Given the description of an element on the screen output the (x, y) to click on. 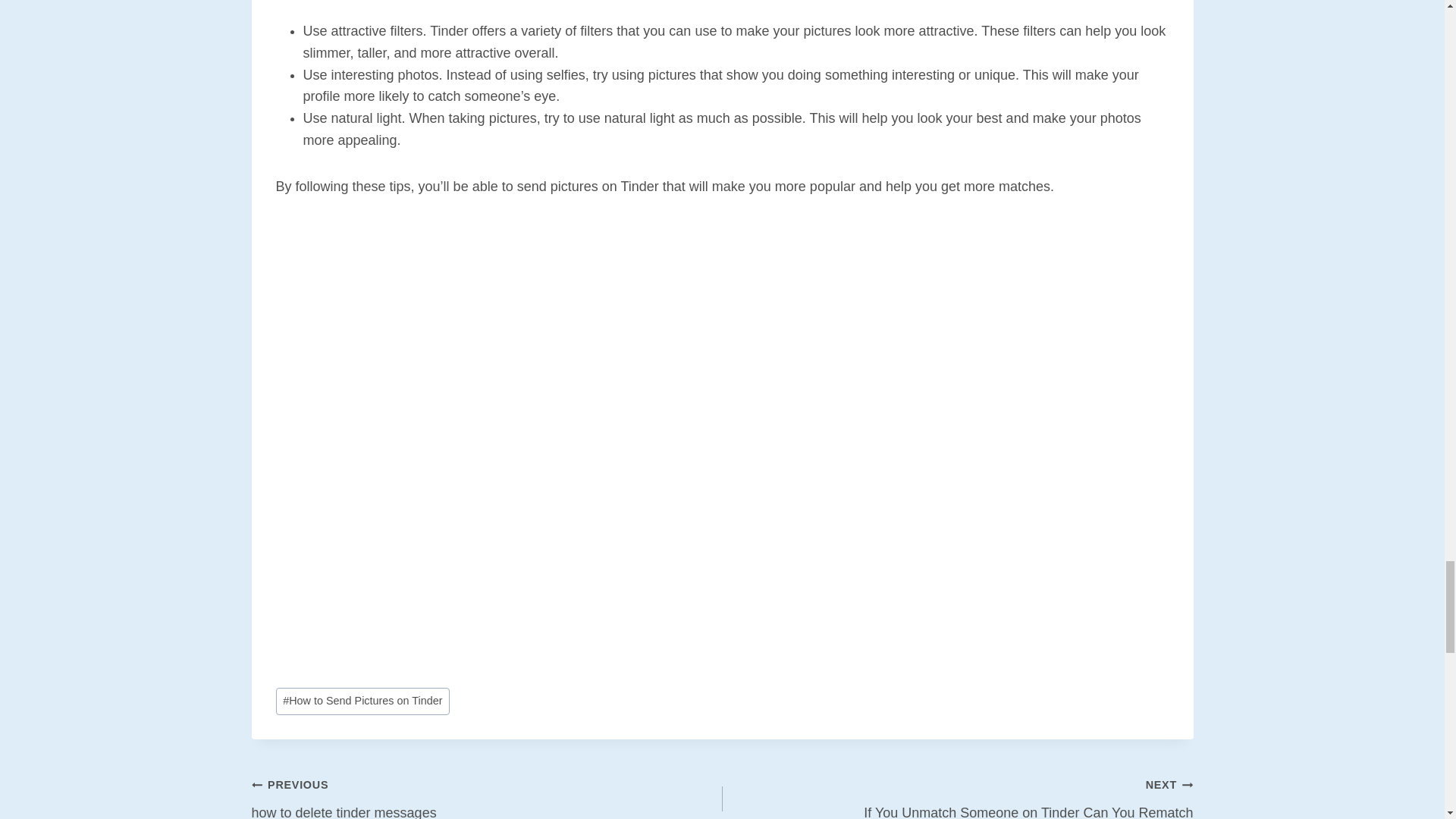
How to Send Pictures on Tinder (957, 796)
